Given the description of an element on the screen output the (x, y) to click on. 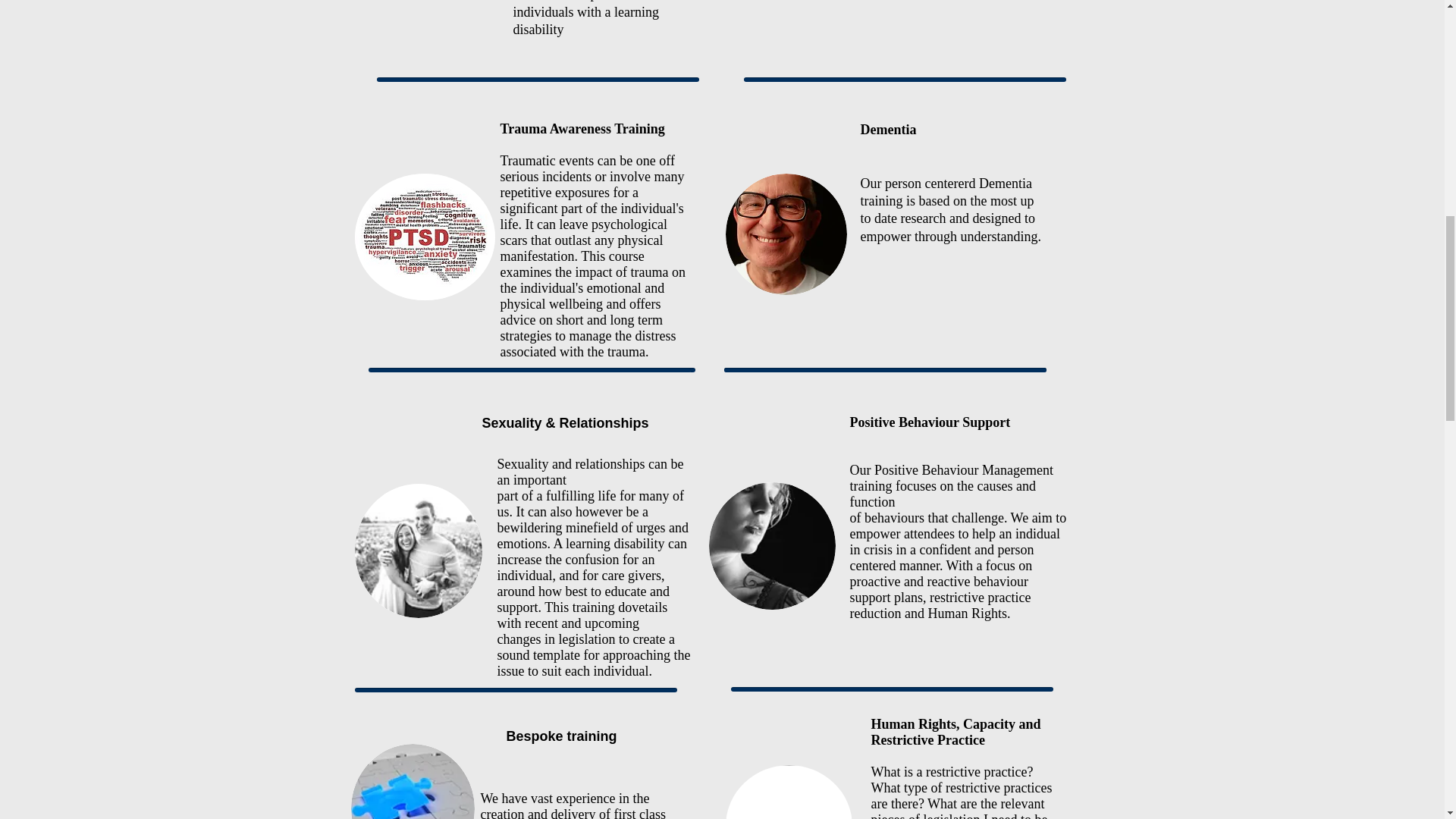
Happy Old Man (785, 233)
Missing Piece  (412, 781)
Human-rights-picture.jpg (788, 791)
